Given the description of an element on the screen output the (x, y) to click on. 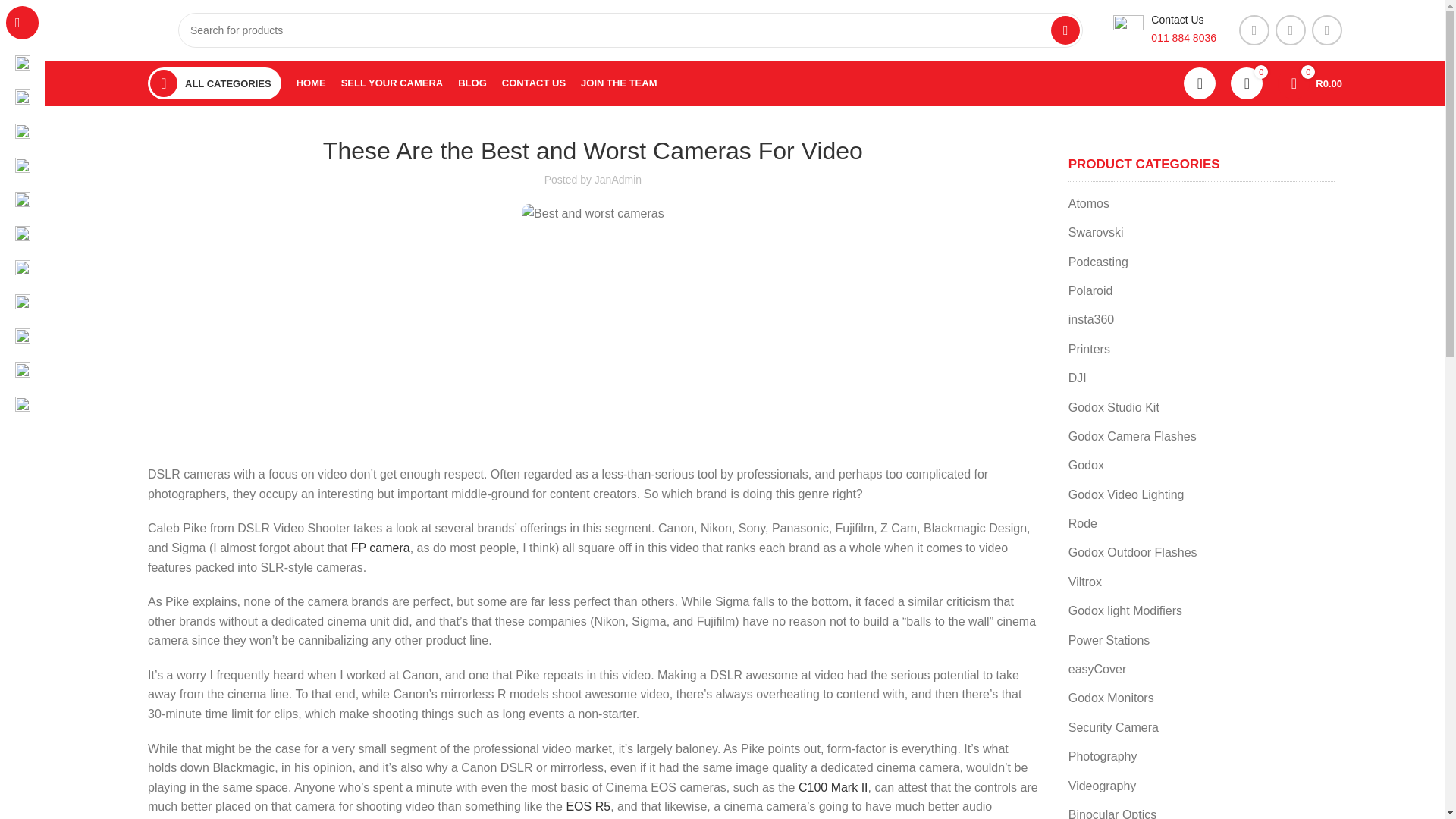
My account (1199, 82)
The BEST and WORST Camera Brands (337, 352)
Shopping cart (1309, 82)
My Wishlist (1246, 82)
Search for products (630, 30)
